Given the description of an element on the screen output the (x, y) to click on. 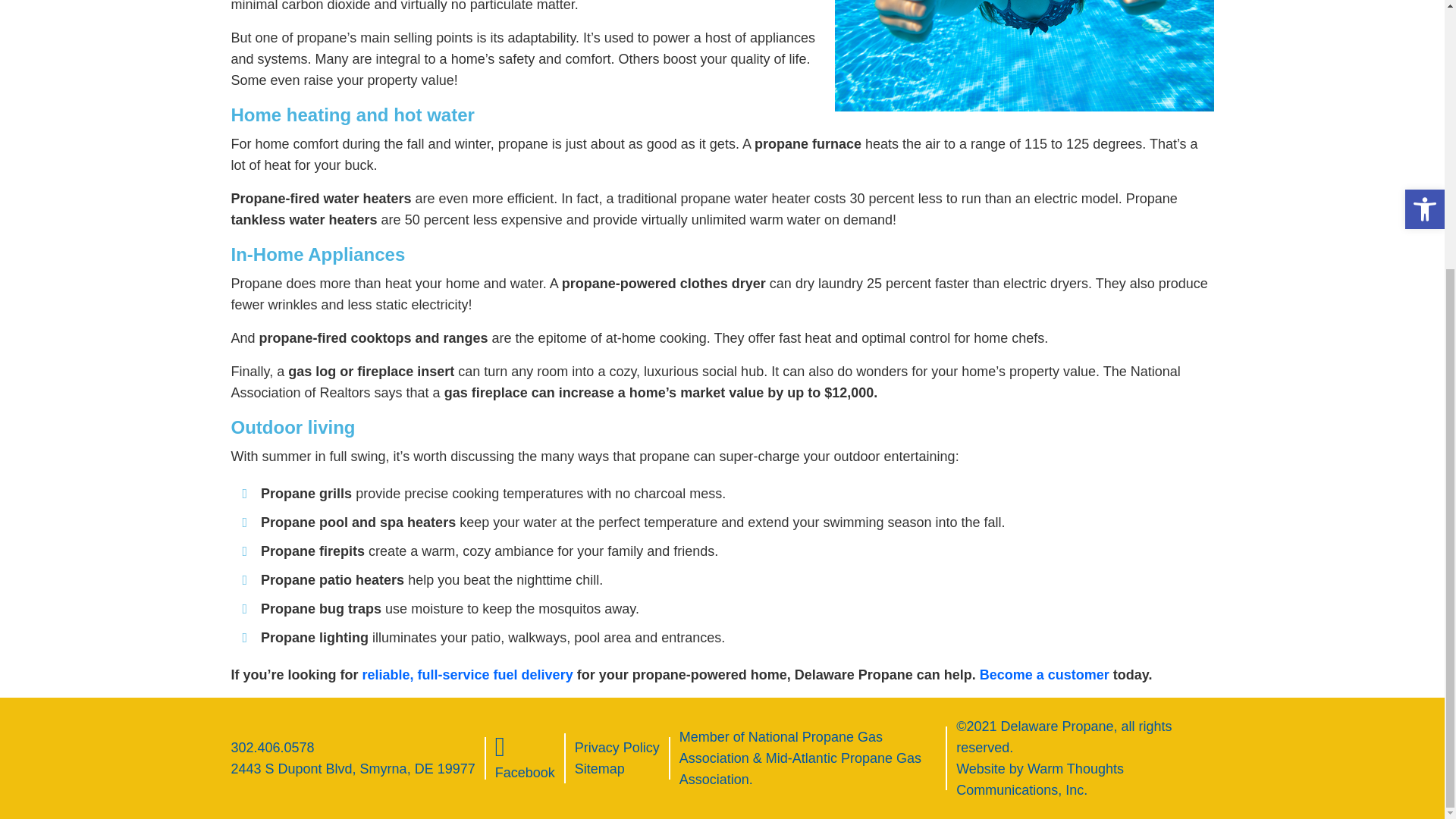
new customer (1044, 674)
warm thoughts (1040, 779)
sitemap (599, 768)
privacy policy (617, 747)
propane delivery (467, 674)
